Given the description of an element on the screen output the (x, y) to click on. 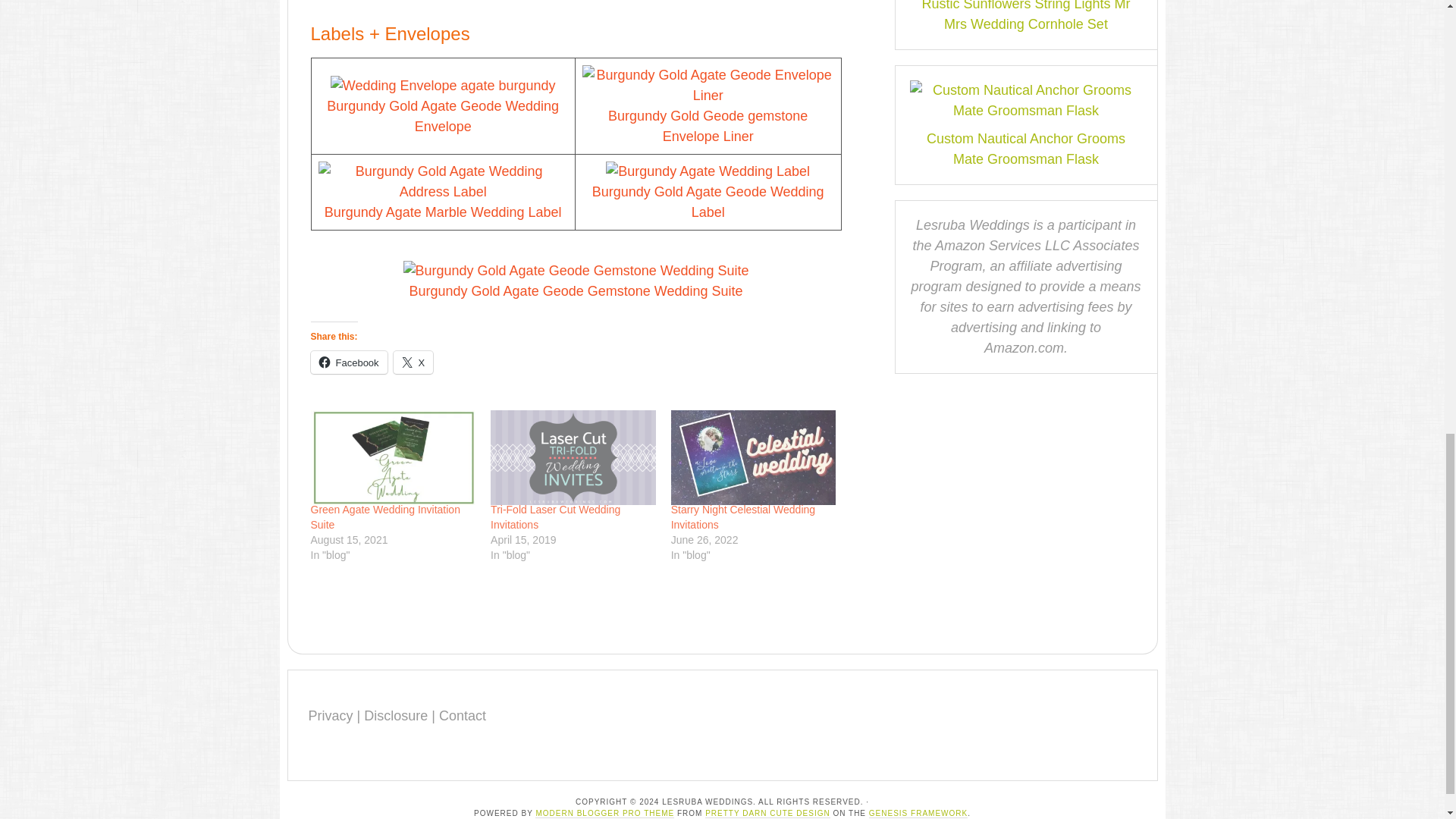
Green Agate Wedding Invitation Suite (385, 516)
Tri-Fold Laser Cut Wedding Invitations (573, 457)
Click to share on X (413, 362)
Tri-Fold Laser Cut Wedding Invitations (555, 516)
Starry Night Celestial Wedding Invitations (753, 457)
Green Agate Wedding Invitation Suite (393, 457)
Click to share on Facebook (349, 362)
